Given the description of an element on the screen output the (x, y) to click on. 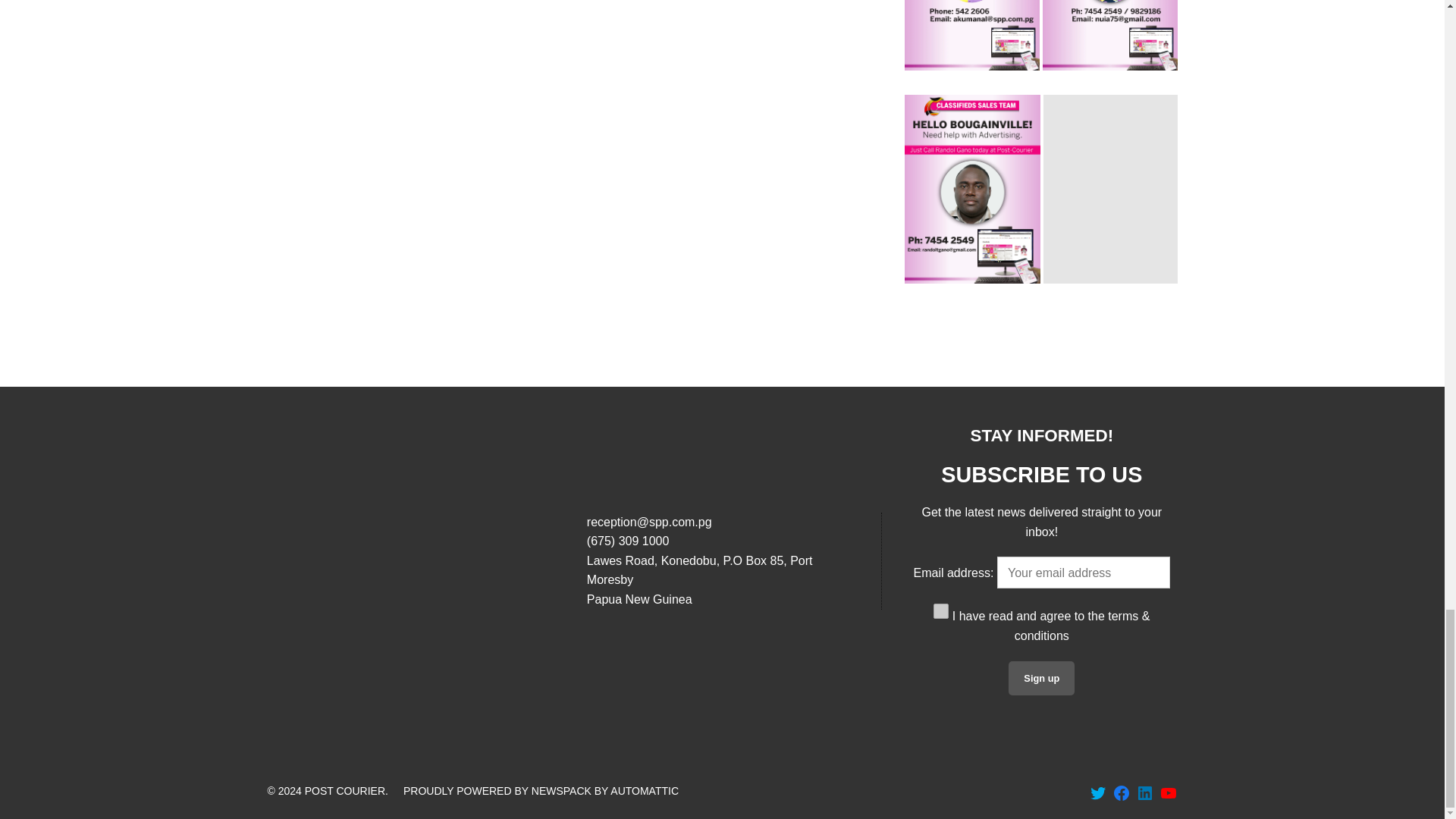
Sign up (1041, 678)
1 (941, 611)
Open address in Google Maps (721, 580)
